Given the description of an element on the screen output the (x, y) to click on. 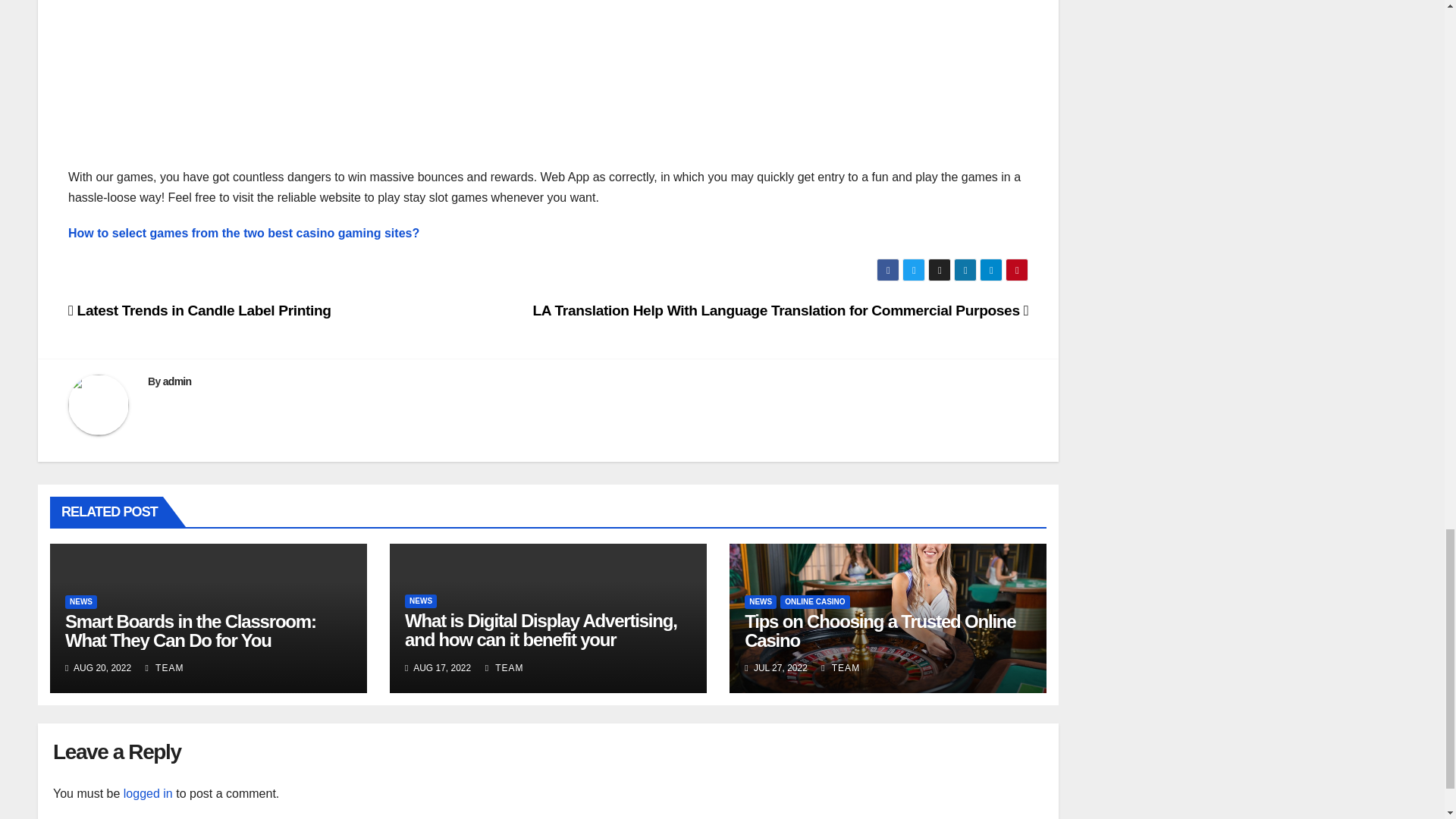
Latest Trends in Candle Label Printing (199, 310)
Permalink to: Tips on Choosing a Trusted Online Casino (879, 630)
How to select games from the two best casino gaming sites? (243, 232)
